Given the description of an element on the screen output the (x, y) to click on. 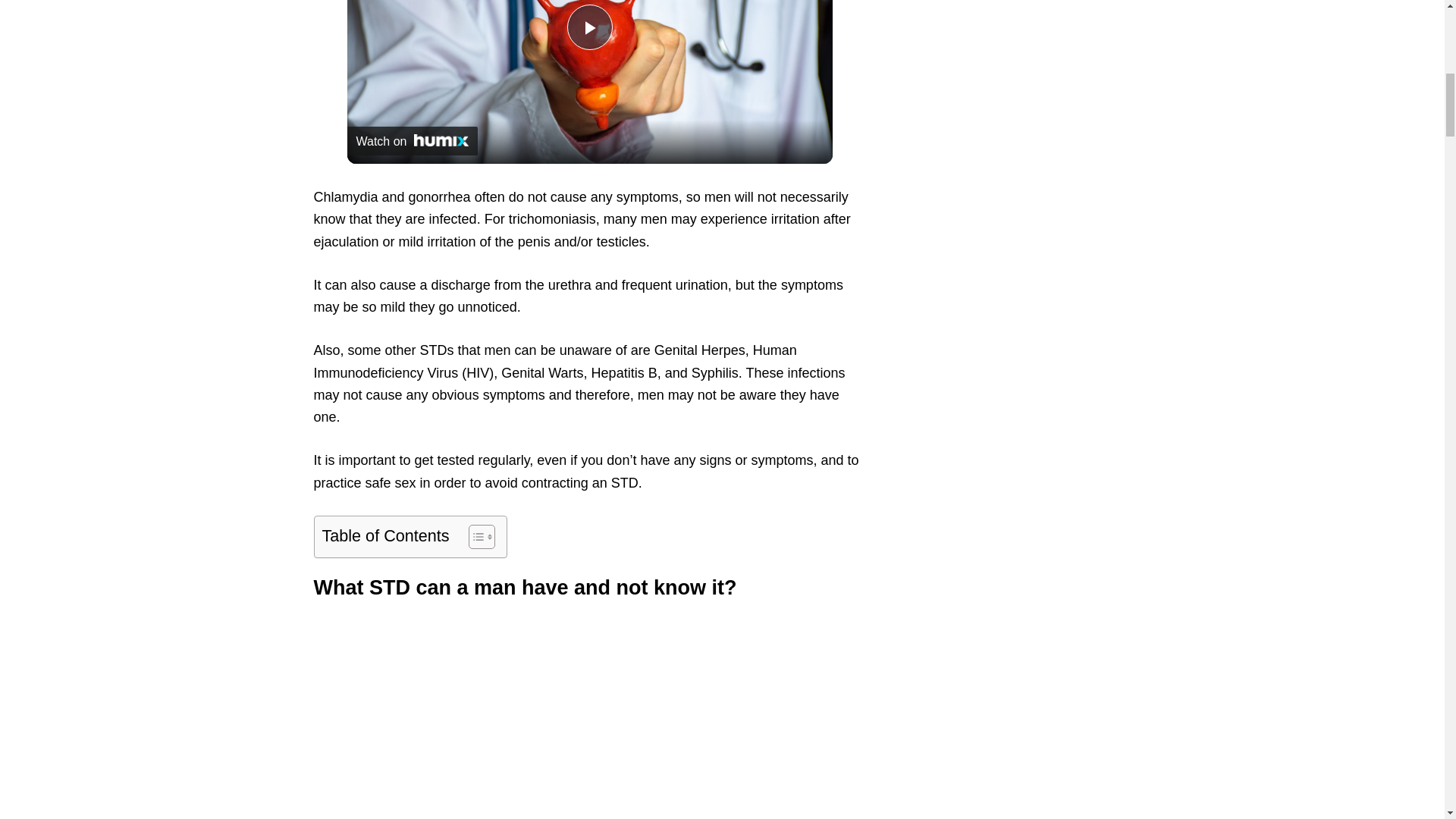
Watch on (412, 140)
Play Video (589, 26)
Play Video (589, 26)
